Given the description of an element on the screen output the (x, y) to click on. 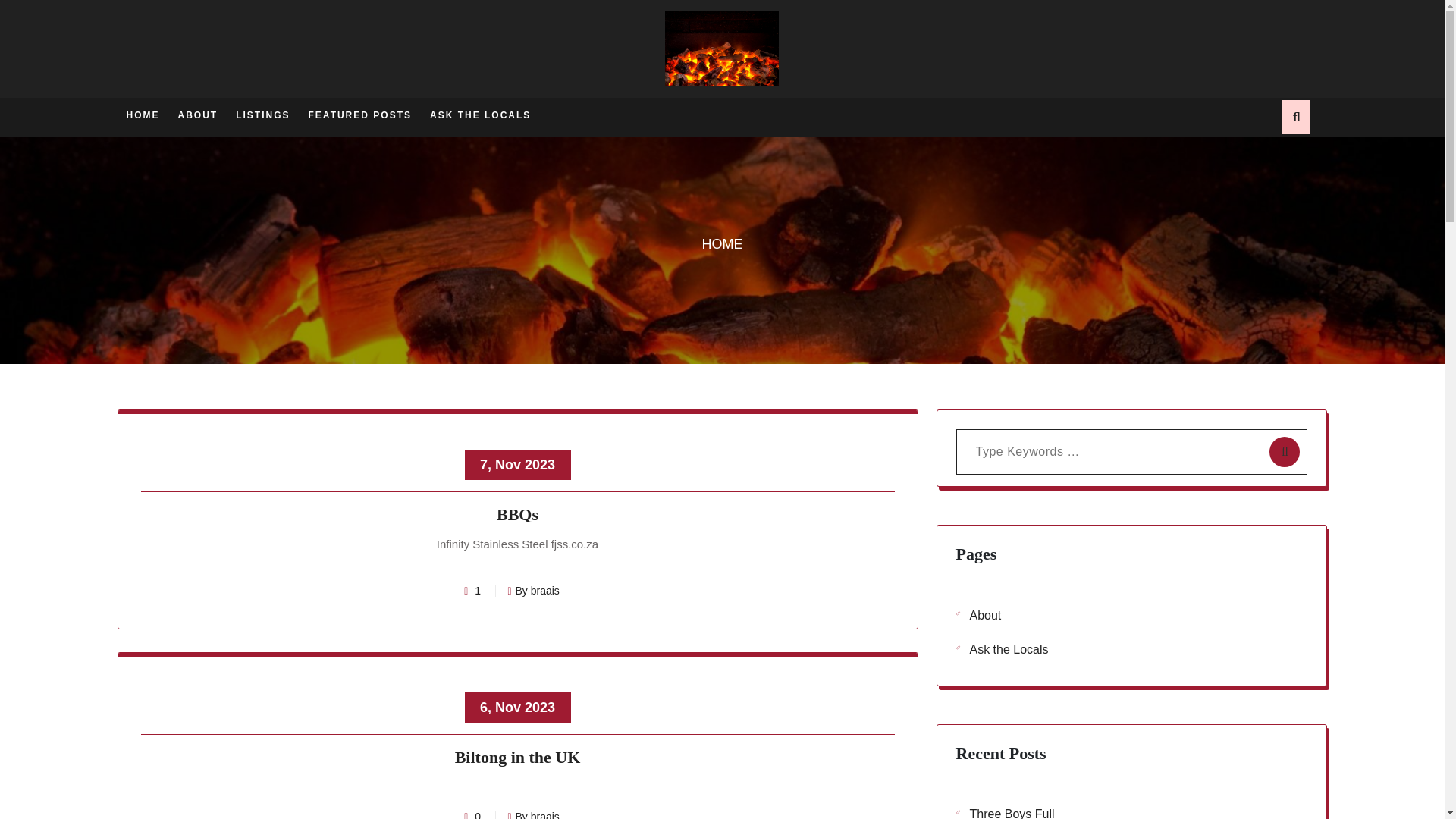
Search (1105, 76)
HOME (141, 114)
BBQs (518, 517)
By braais (532, 814)
LISTINGS (262, 114)
FEATURED POSTS (360, 114)
ASK THE LOCALS (480, 114)
1 (478, 590)
HOME (721, 243)
Biltong in the UK (518, 760)
By braais (532, 590)
ABOUT (196, 114)
0 (478, 814)
